Given the description of an element on the screen output the (x, y) to click on. 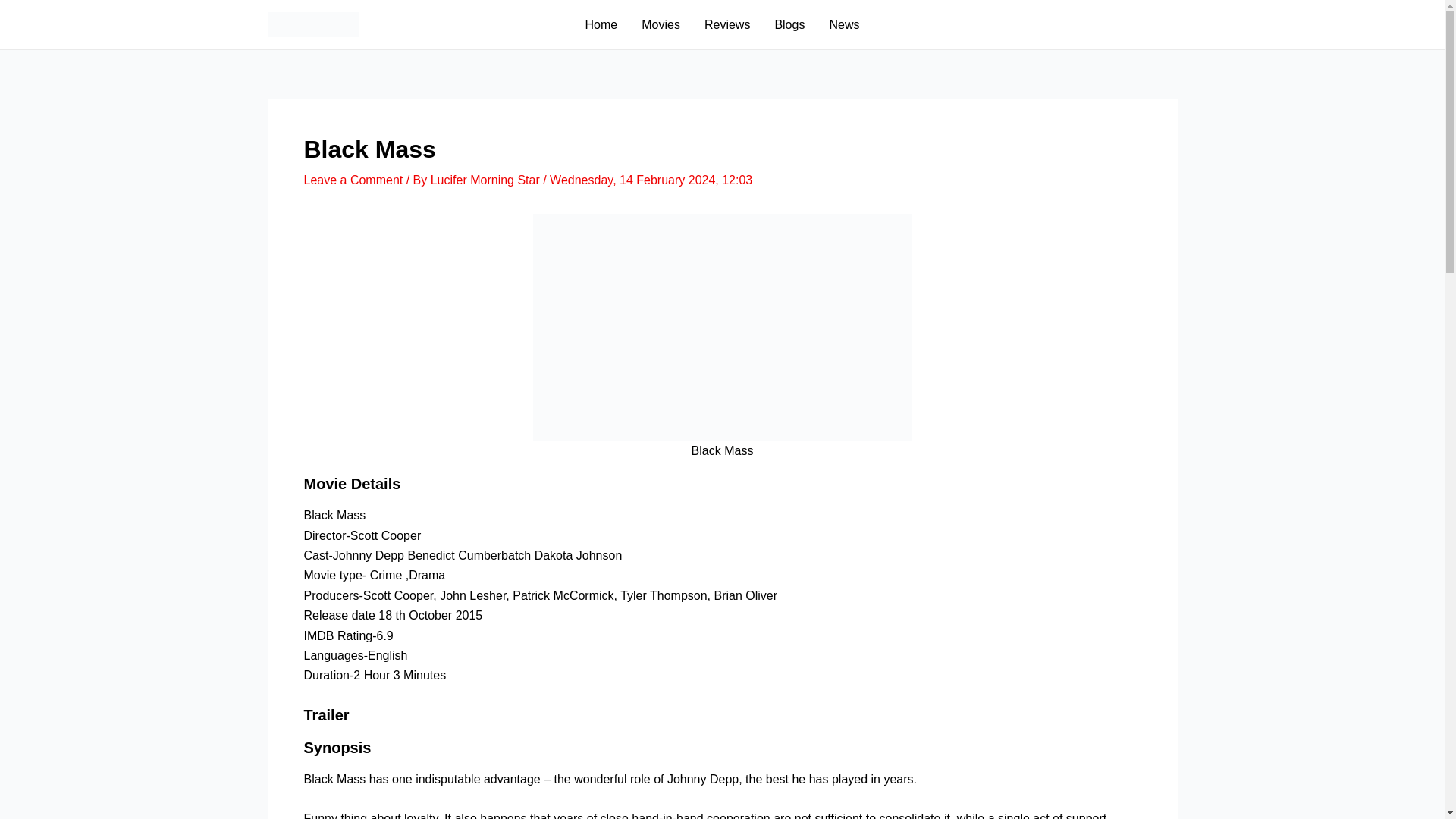
Blogs (788, 24)
View all posts by Lucifer Morning Star (486, 179)
Lucifer Morning Star (486, 179)
News (843, 24)
Home (601, 24)
Movies (660, 24)
Leave a Comment (352, 179)
Reviews (727, 24)
